Given the description of an element on the screen output the (x, y) to click on. 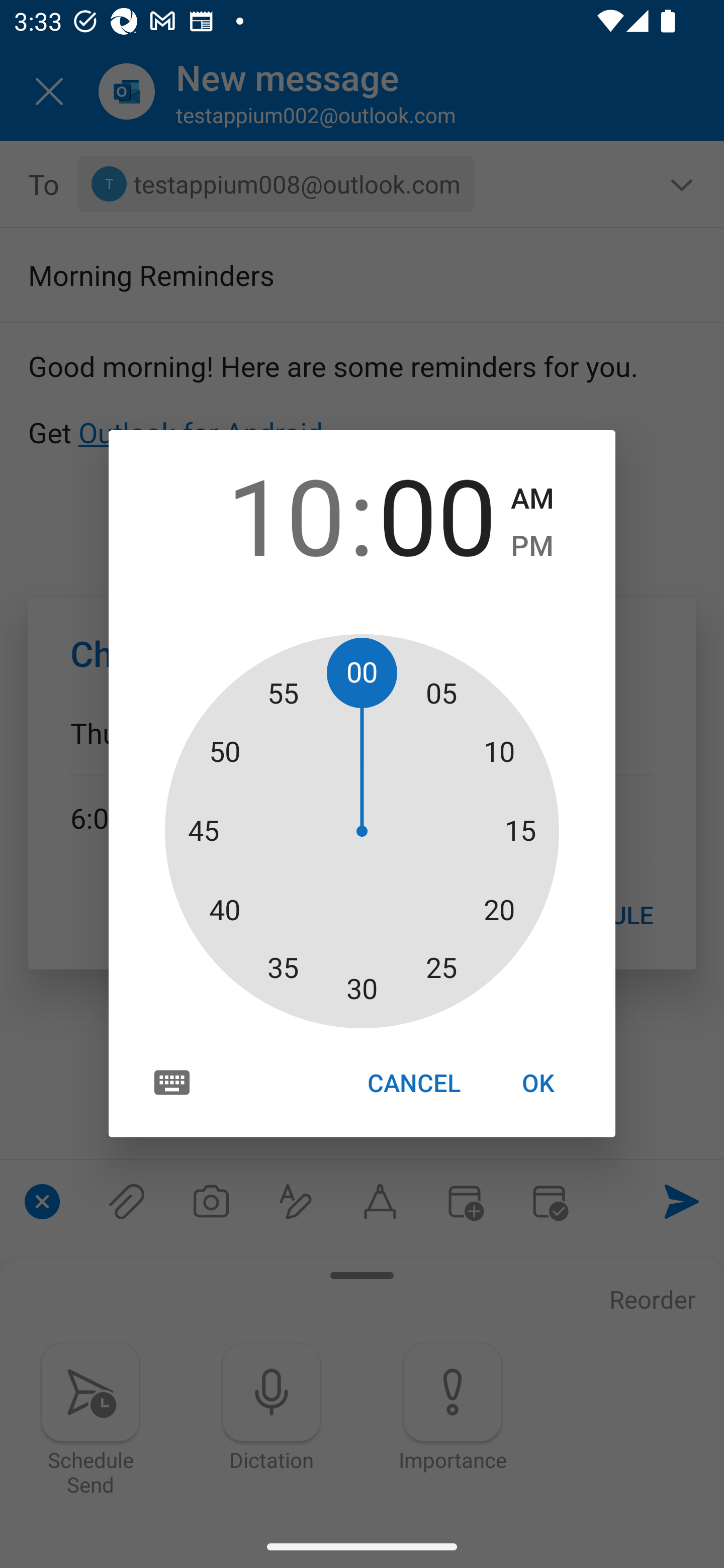
10 (285, 513)
00 (436, 513)
AM (532, 498)
PM (532, 546)
CANCEL (413, 1082)
OK (537, 1082)
Switch to text input mode for the time input. (171, 1081)
